Given the description of an element on the screen output the (x, y) to click on. 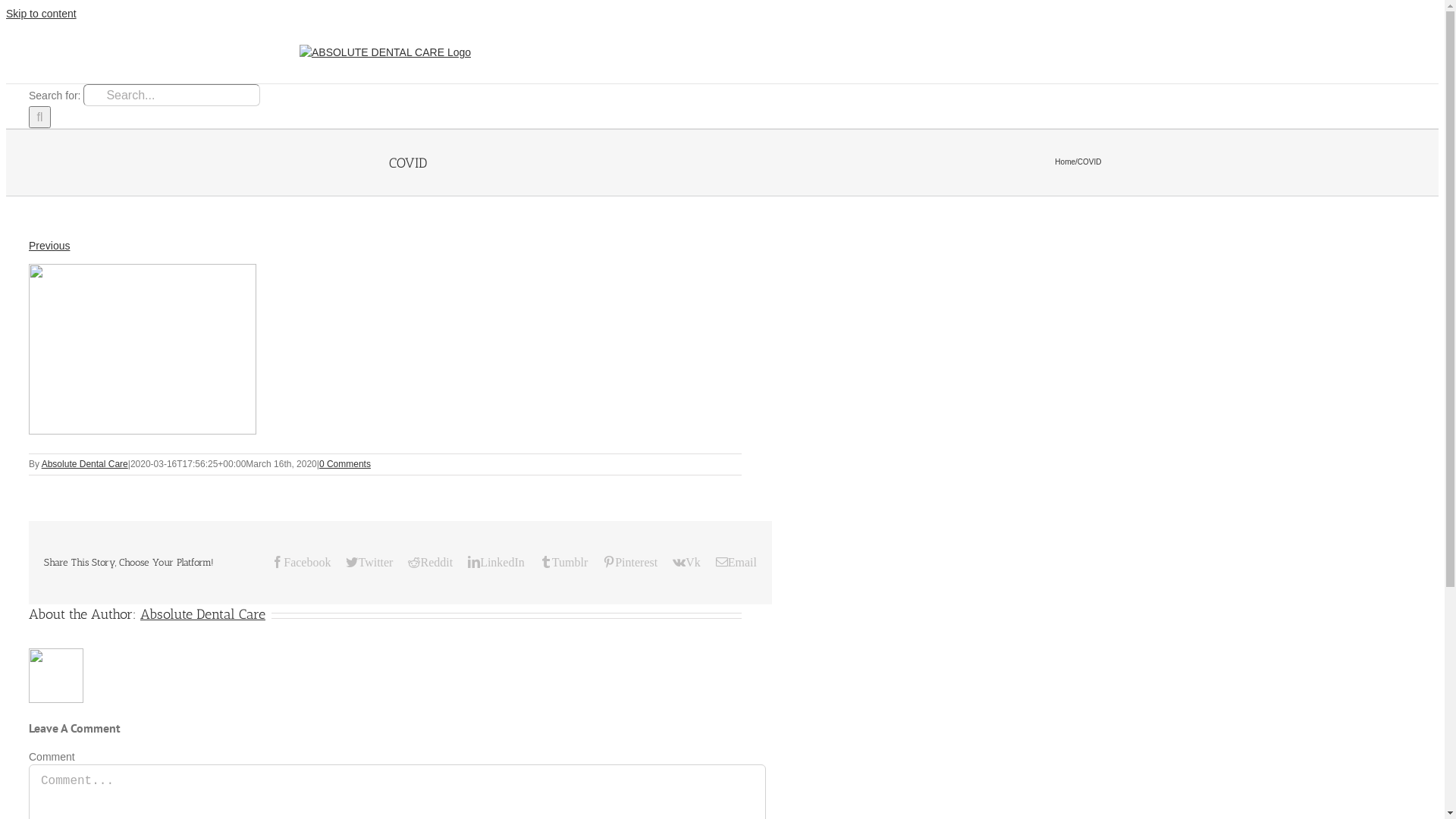
Previous Element type: text (48, 245)
Vk Element type: text (686, 561)
Absolute Dental Care Element type: text (84, 463)
Pinterest Element type: text (629, 561)
Reddit Element type: text (429, 561)
Email Element type: text (735, 561)
Home Element type: text (1064, 161)
0 Comments Element type: text (344, 463)
Twitter Element type: text (368, 561)
Tumblr Element type: text (563, 561)
Skip to content Element type: text (41, 13)
Facebook Element type: text (300, 561)
Absolute Dental Care Element type: text (202, 613)
LinkedIn Element type: text (495, 561)
